Given the description of an element on the screen output the (x, y) to click on. 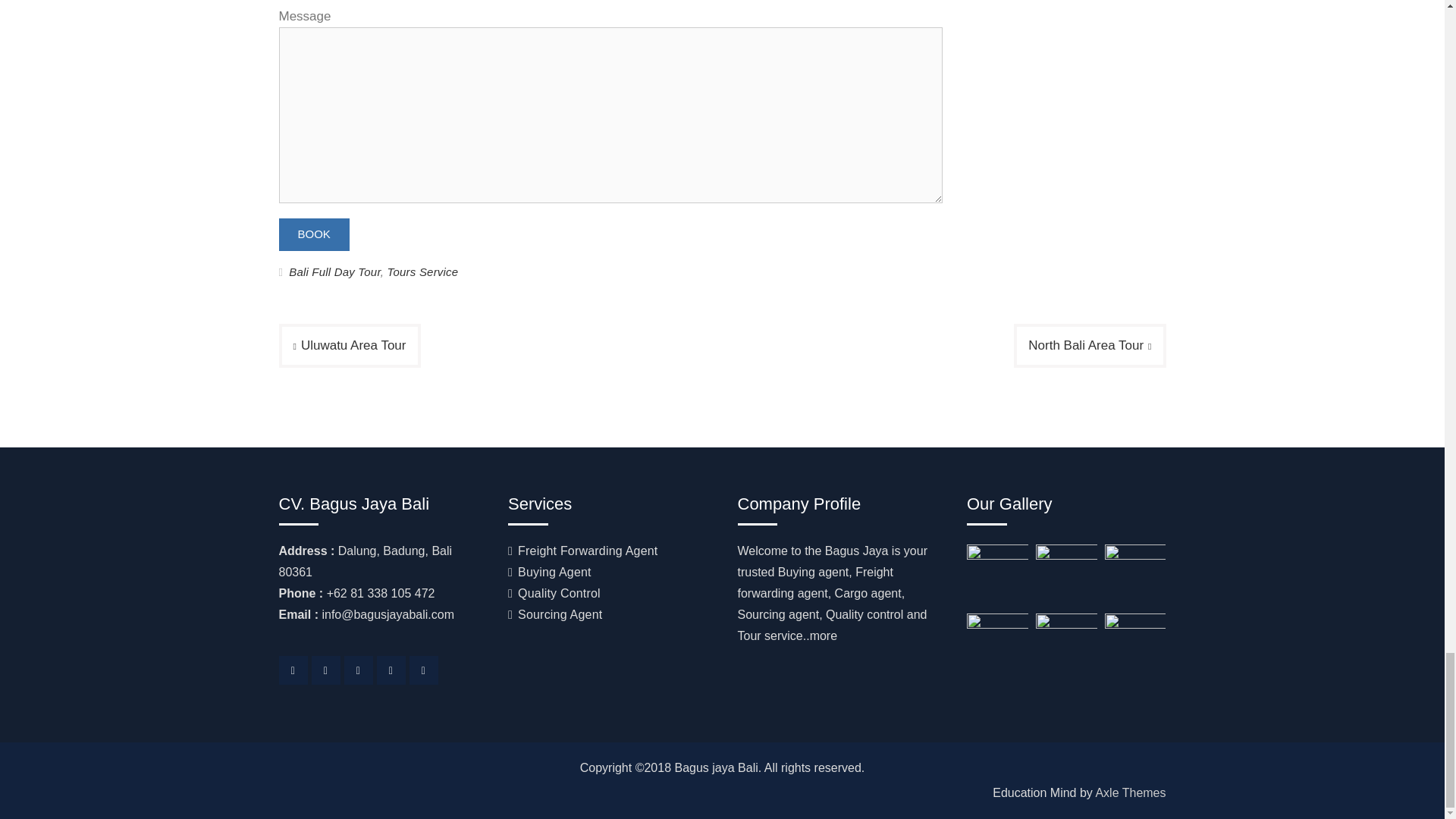
BOOK (314, 234)
